Given the description of an element on the screen output the (x, y) to click on. 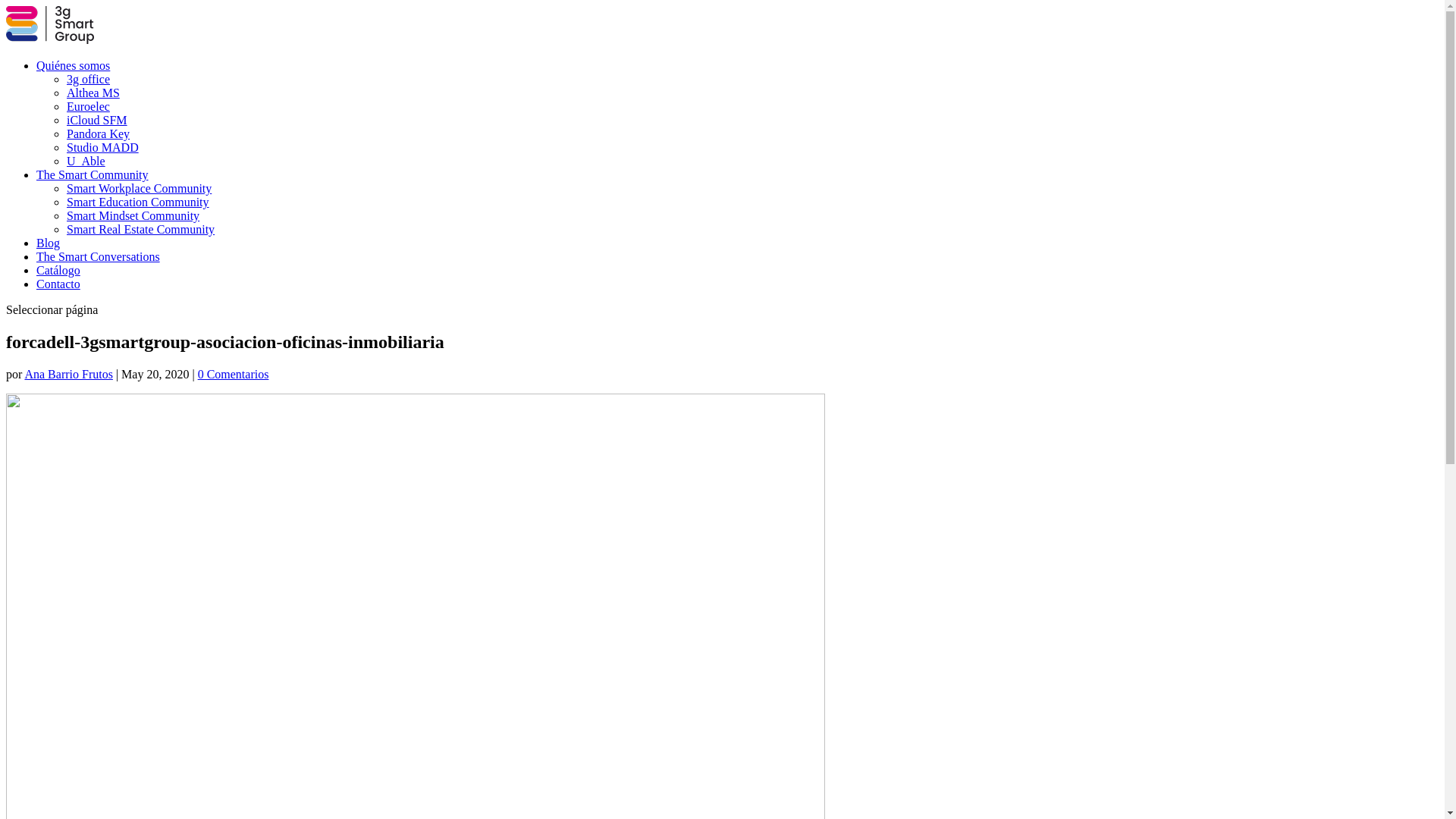
U_Able Element type: text (85, 160)
Studio MADD Element type: text (102, 147)
iCloud SFM Element type: text (96, 119)
3g office Element type: text (87, 78)
0 Comentarios Element type: text (233, 373)
Smart Education Community Element type: text (137, 201)
Smart Workplace Community Element type: text (138, 188)
Contacto Element type: text (58, 283)
The Smart Conversations Element type: text (98, 256)
Ana Barrio Frutos Element type: text (68, 373)
Smart Mindset Community Element type: text (132, 215)
Euroelec Element type: text (87, 106)
The Smart Community Element type: text (92, 174)
Pandora Key Element type: text (97, 133)
Althea MS Element type: text (92, 92)
Smart Real Estate Community Element type: text (140, 228)
Blog Element type: text (47, 242)
